Given the description of an element on the screen output the (x, y) to click on. 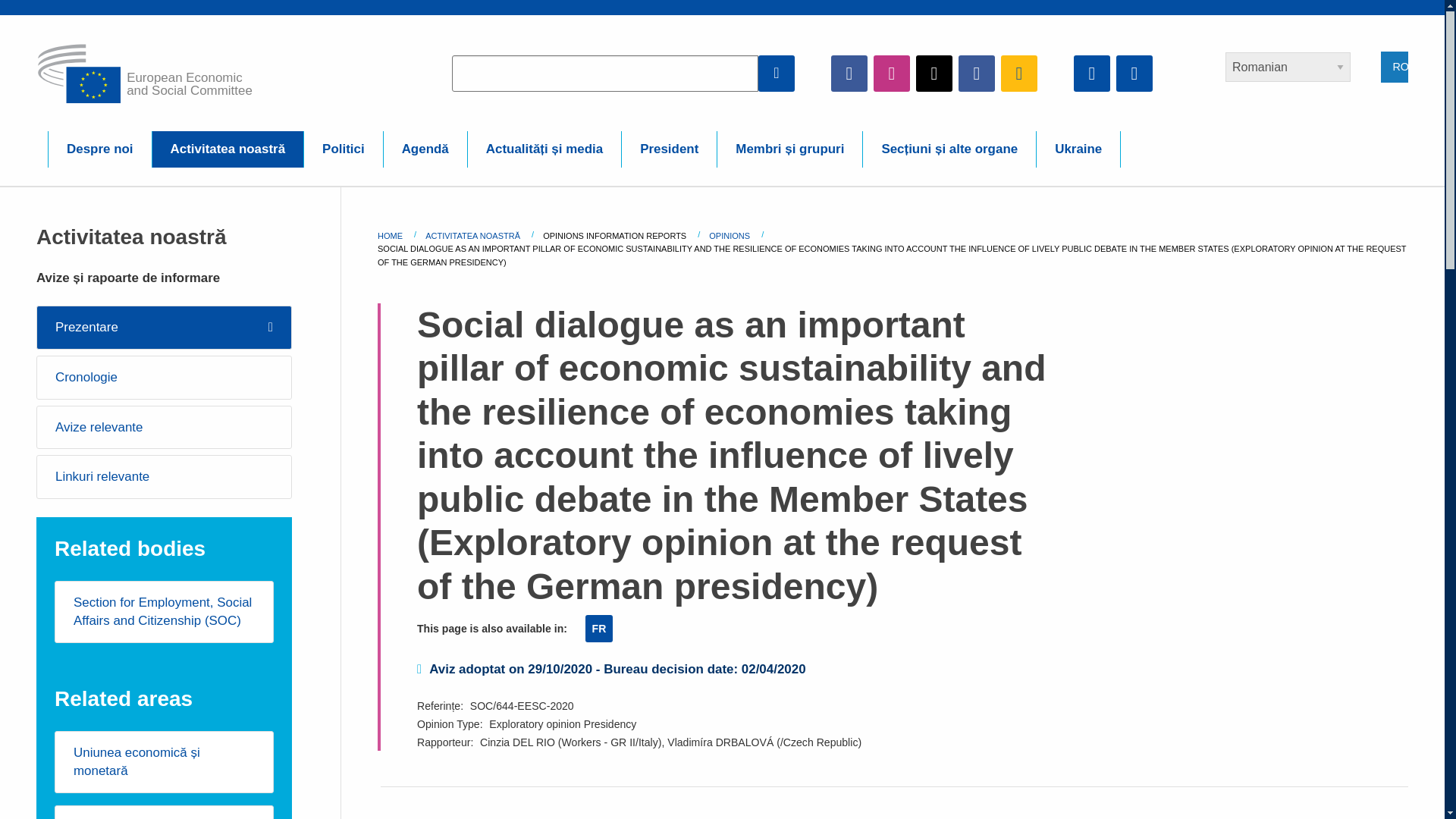
Apply (776, 72)
